Given the description of an element on the screen output the (x, y) to click on. 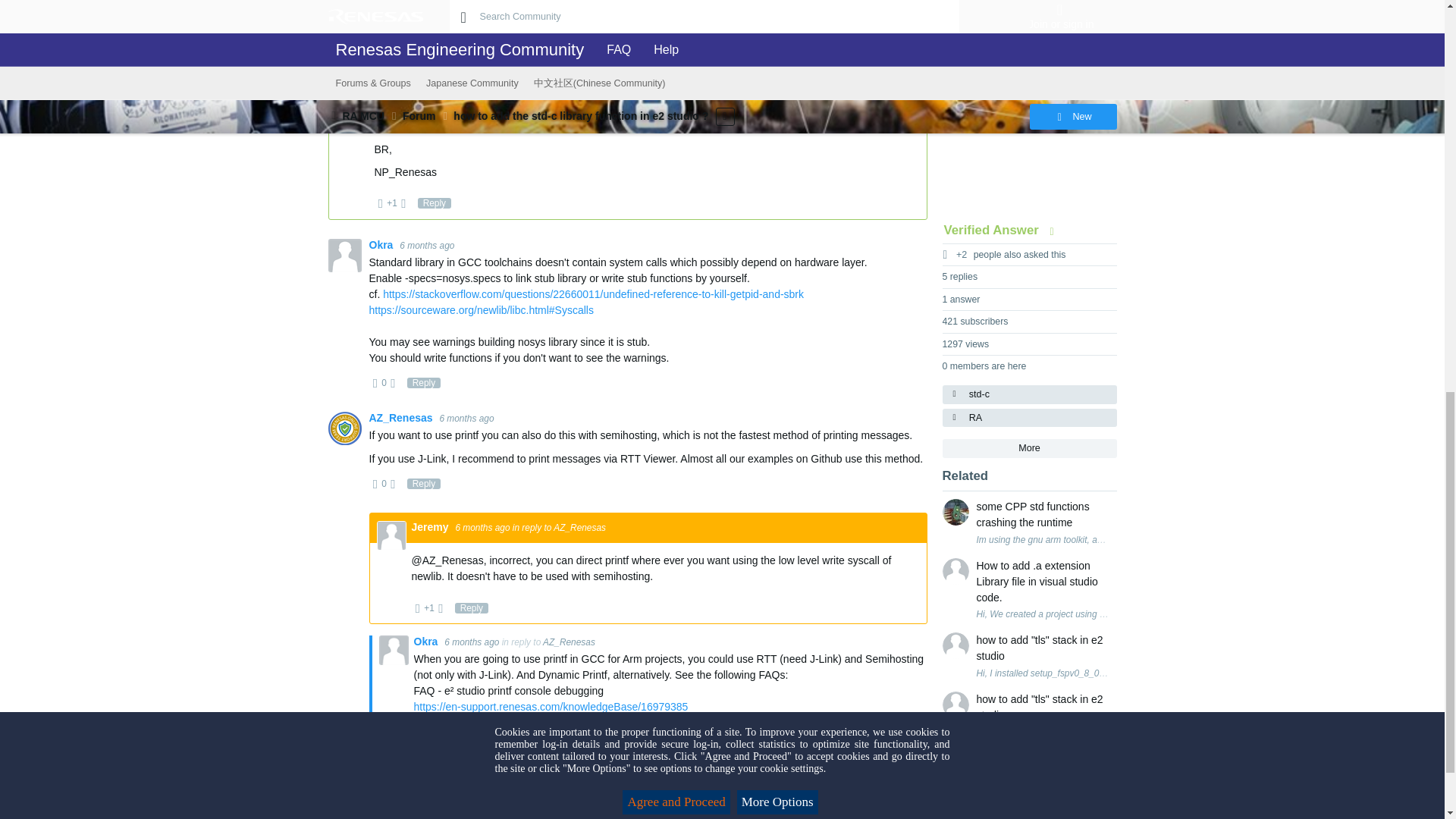
How to add .a extension Library file in visual studio code. (1042, 581)
More (1029, 447)
Verified Answer (1002, 229)
std-c (1029, 394)
how to add "tls" stack in e2 studio (1042, 648)
some CPP std functions crashing the runtime (1042, 514)
RA (1029, 417)
